Given the description of an element on the screen output the (x, y) to click on. 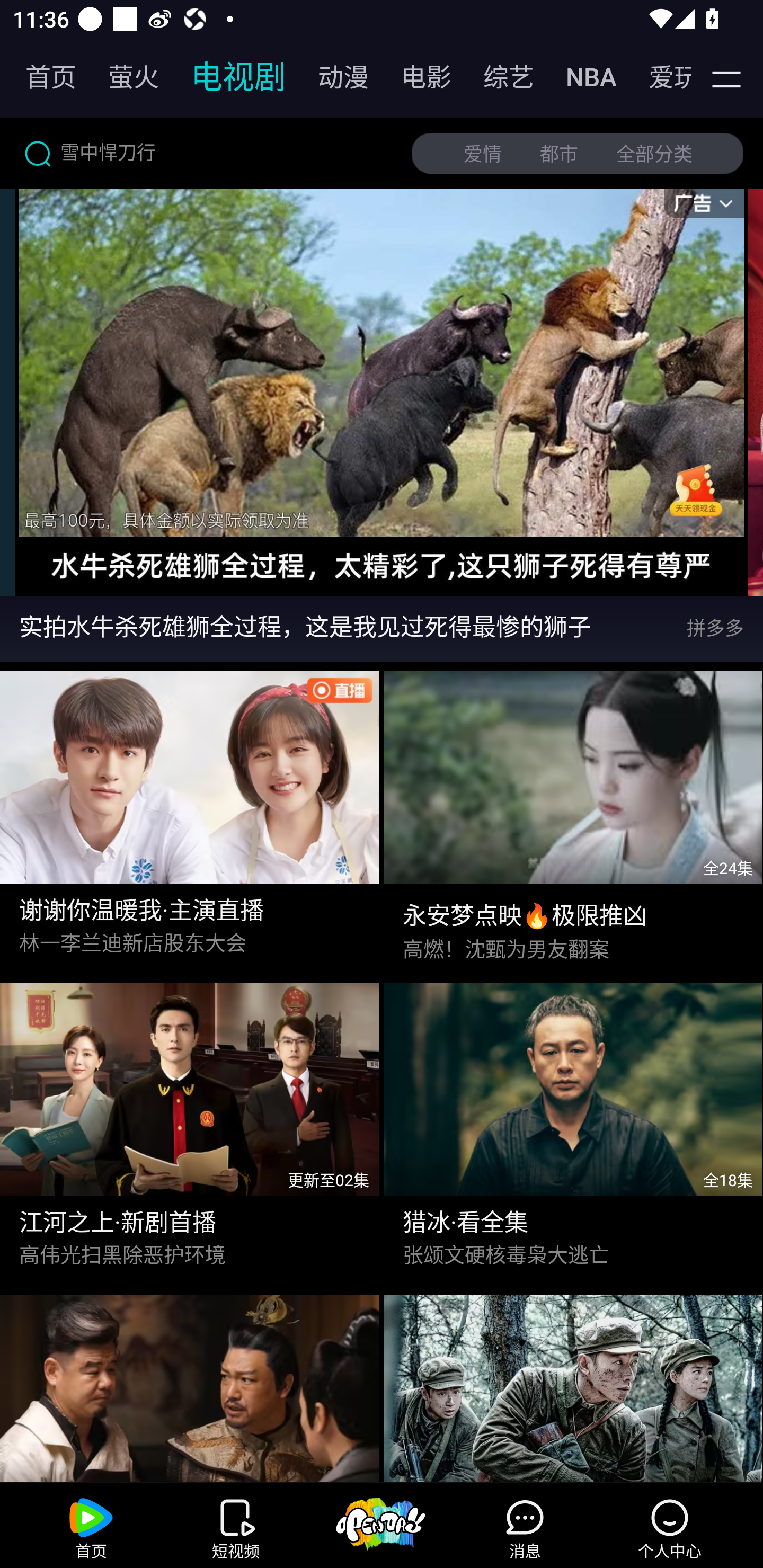
首页 (41, 77)
萤火 (123, 77)
电视剧 (228, 77)
动漫 (333, 77)
电影 (416, 77)
综艺 (498, 77)
NBA (581, 77)
爱玩 (657, 77)
雪中悍刀行 (207, 152)
爱情 (482, 153)
都市 (559, 153)
全部分类 (654, 153)
拼多多 (724, 628)
谢谢你温暖我·主演直播,链接 谢谢你温暖我·主演直播 林一李兰迪新店股东大会 (189, 817)
永安梦点映🔥极限推凶,全24集,链接 永安梦点映🔥极限推凶 高燃！沈甄为男友翻案 (572, 817)
江河之上·新剧首播,更新至02集,链接 江河之上·新剧首播 高伟光扫黑除恶护环境 (189, 1129)
猎冰·看全集,全18集,链接 猎冰·看全集 张颂文硬核毒枭大逃亡 (572, 1129)
欢乐英雄·更新,更新至16集,链接 (189, 1383)
侦察英雄,全32集,链接 (572, 1383)
